Given the description of an element on the screen output the (x, y) to click on. 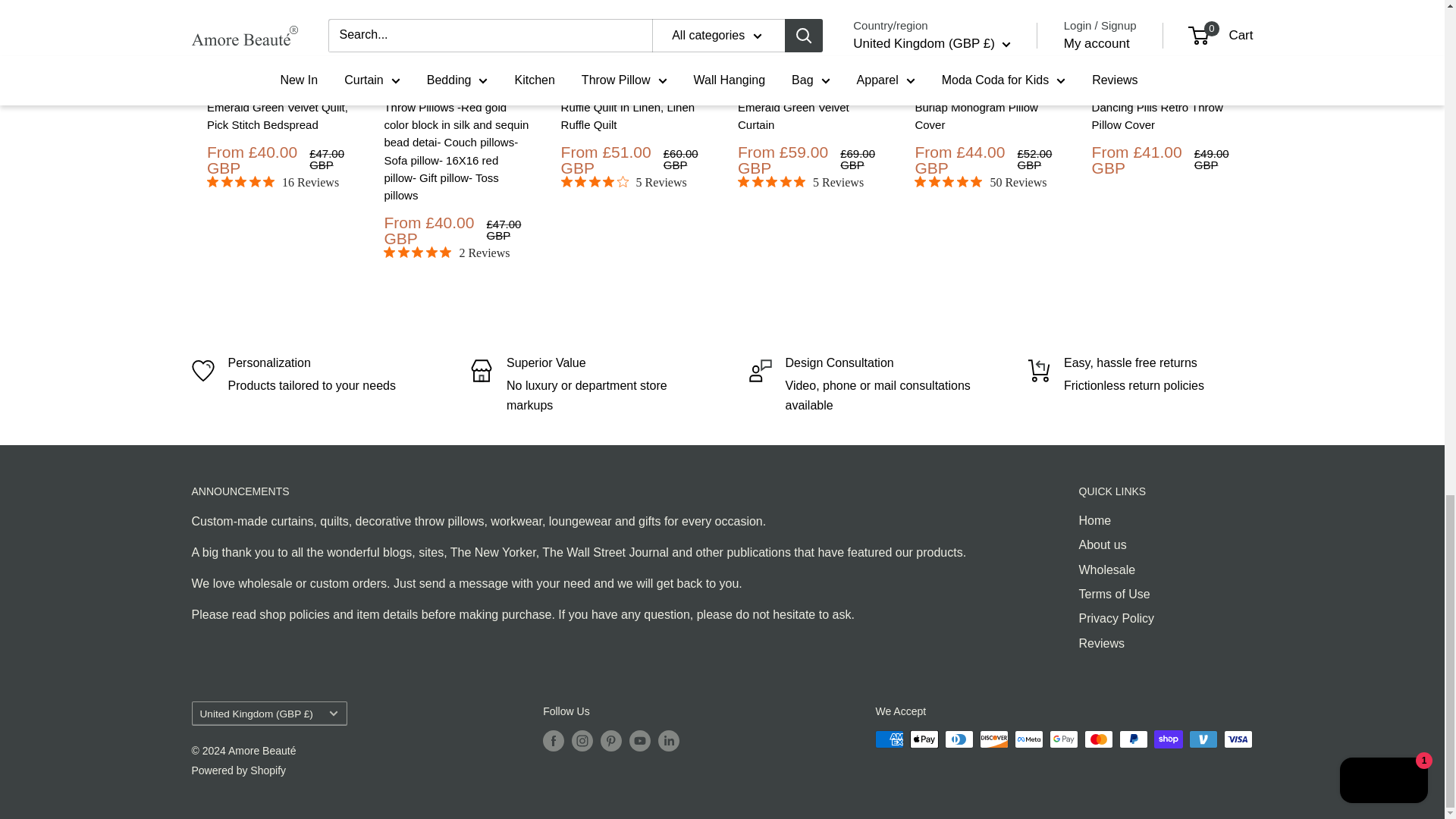
5 Reviews (799, 182)
50 Reviews (980, 182)
5 Reviews (622, 182)
2 Reviews (446, 253)
16 Reviews (271, 182)
